Given the description of an element on the screen output the (x, y) to click on. 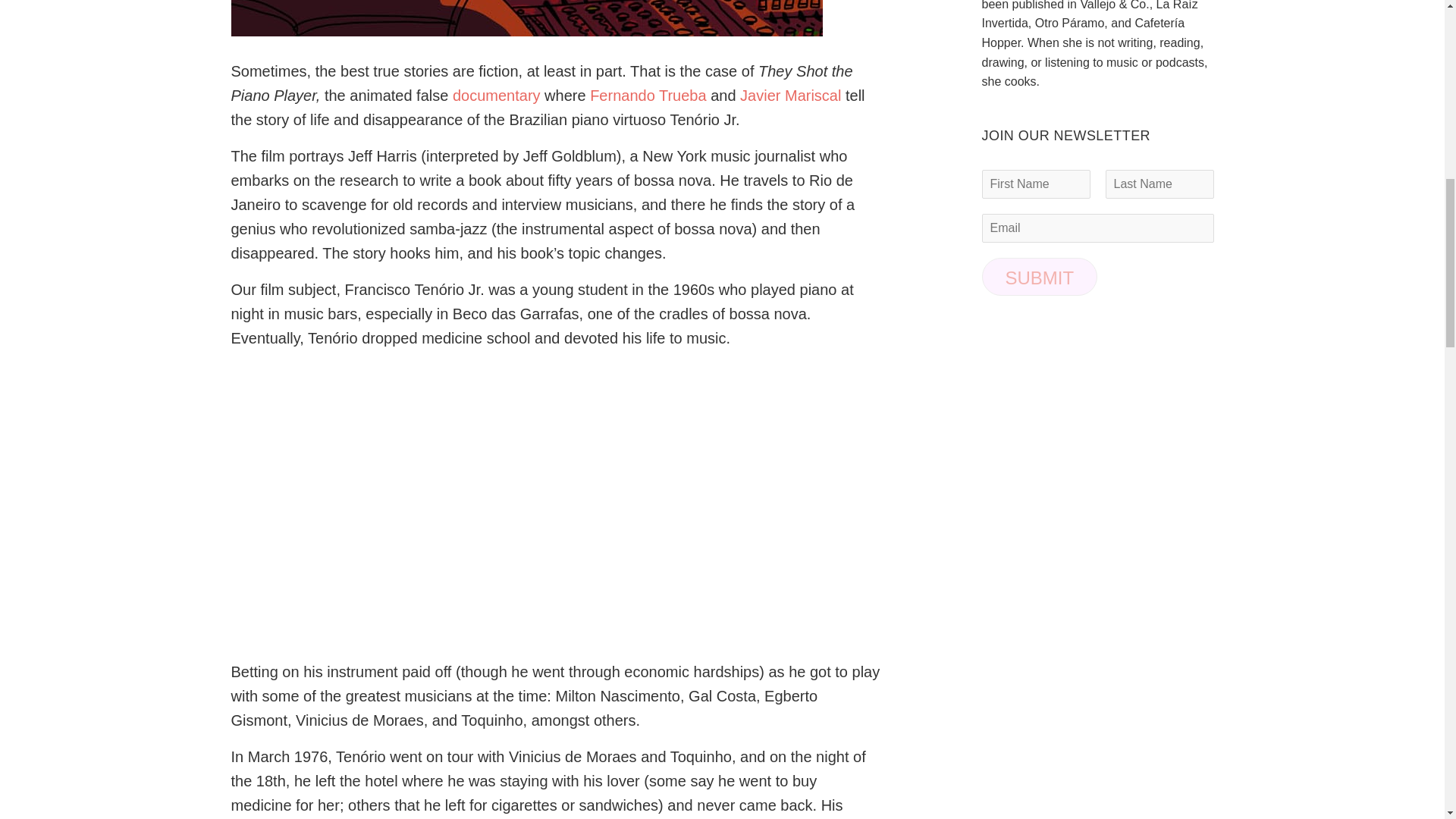
Fernando Trueba (647, 95)
documentary (496, 95)
SUBMIT (1039, 276)
Javier Mariscal (790, 95)
